Given the description of an element on the screen output the (x, y) to click on. 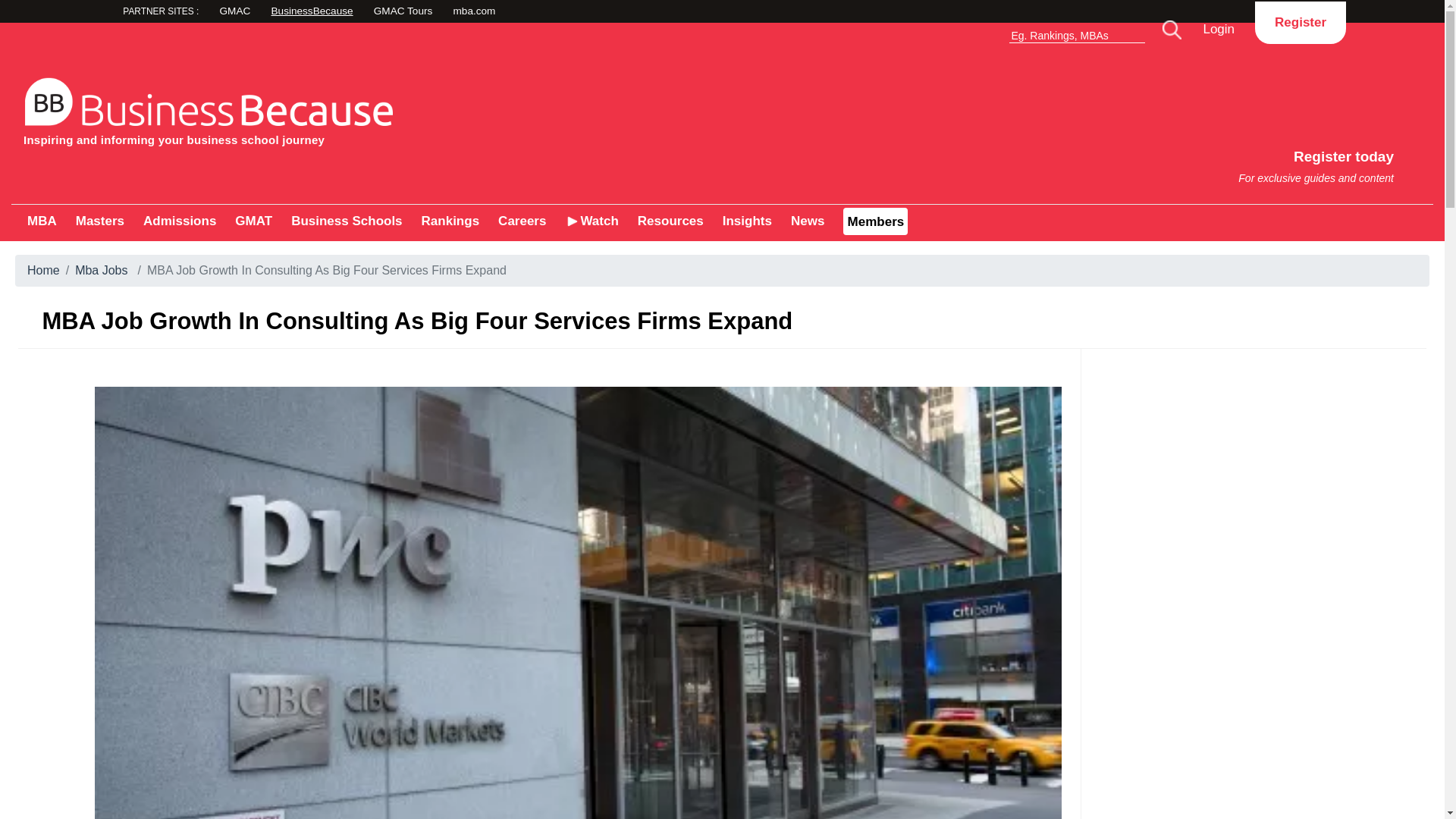
mba.com (558, 12)
PARTNER SITES : (1089, 159)
Admissions (189, 12)
GMAC Tours (178, 220)
GMAC (474, 12)
GMAT (276, 12)
BusinessBecause (253, 220)
Register (367, 12)
MBA (1300, 22)
Masters (41, 220)
Rankings (99, 220)
Inspiring and informing your business school journey (451, 220)
Business Schools (367, 108)
3rd party ad content (346, 220)
